Given the description of an element on the screen output the (x, y) to click on. 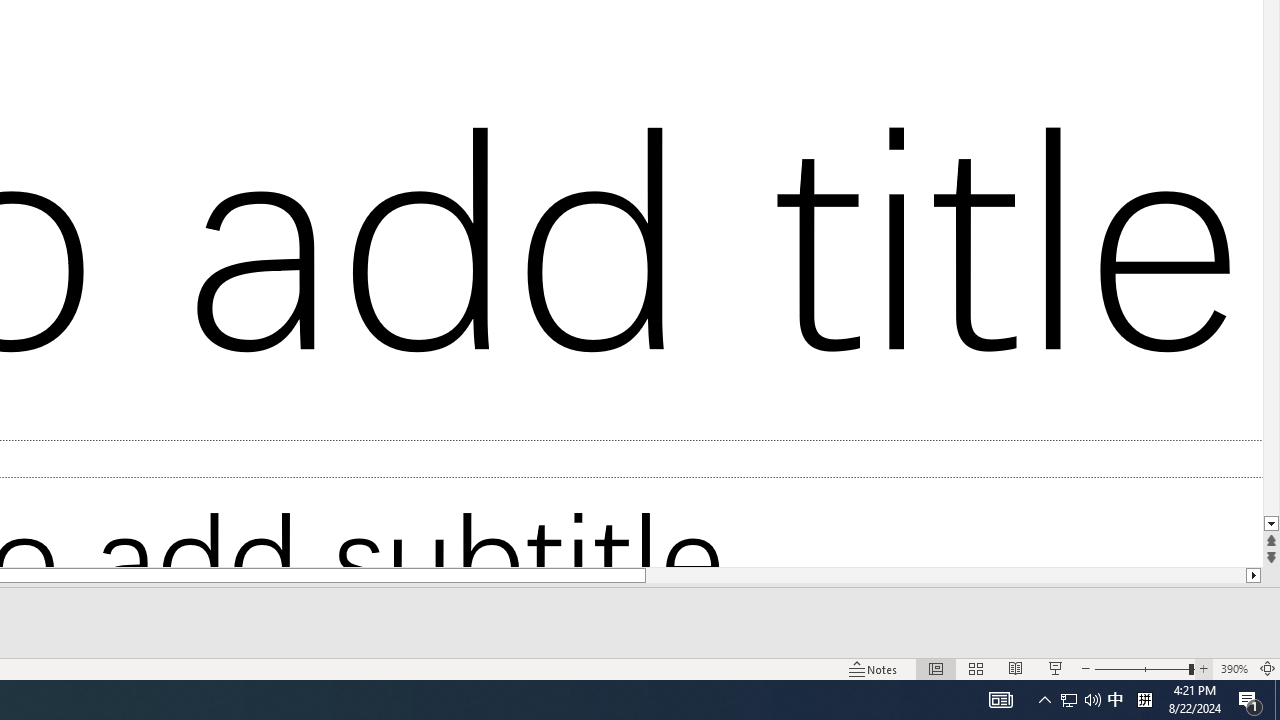
Zoom to Fit  (1267, 668)
Zoom 390% (1234, 668)
Zoom In (1204, 668)
Zoom Out (1141, 668)
Zoom (1144, 668)
Slide Sorter (975, 668)
Reading View (1015, 668)
Notes  (874, 668)
Normal (936, 668)
